Given the description of an element on the screen output the (x, y) to click on. 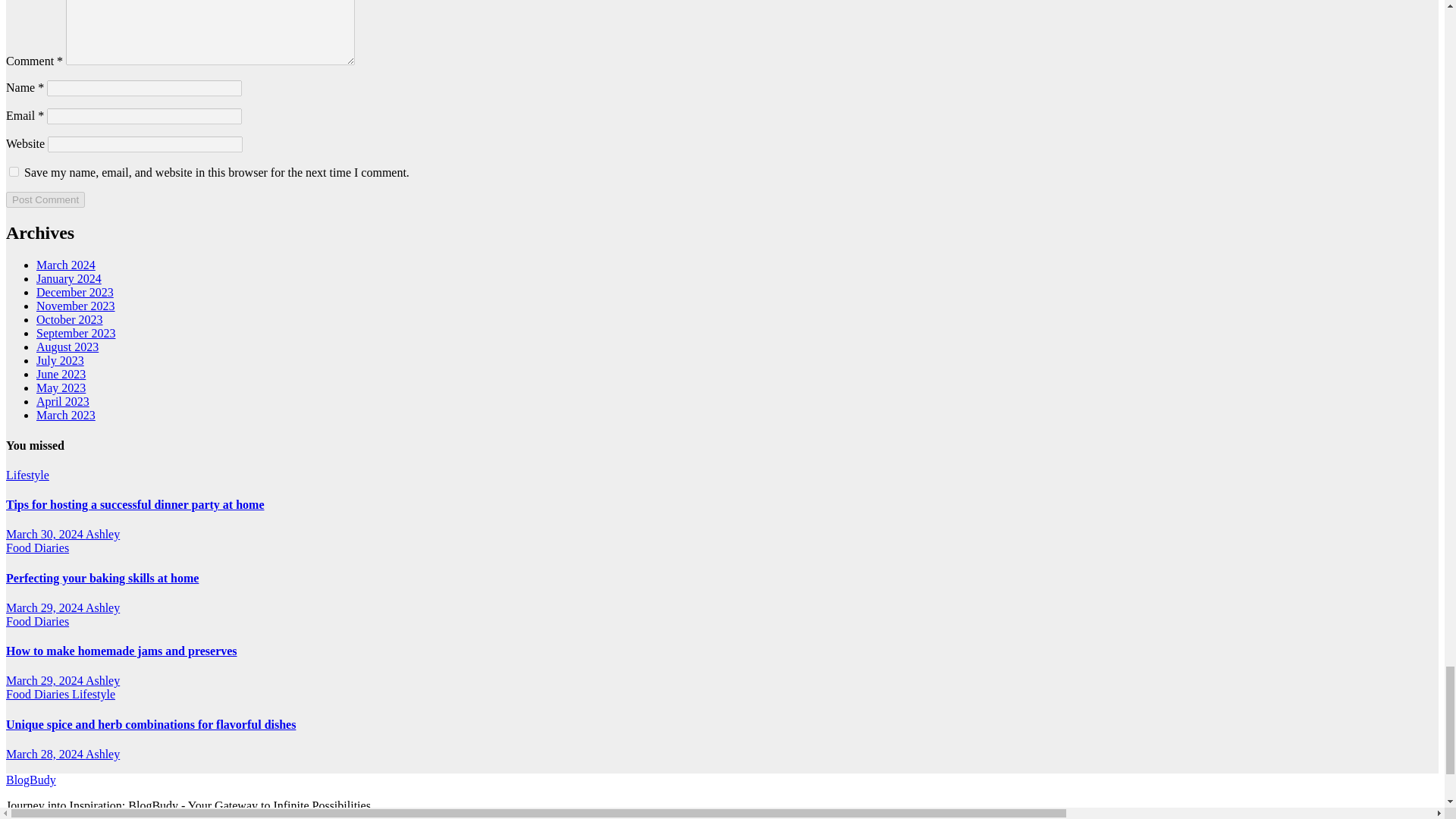
yes (13, 171)
Permalink to: Perfecting your baking skills at home (101, 577)
Permalink to: How to make homemade jams and preserves (121, 650)
Post Comment (44, 199)
